Given the description of an element on the screen output the (x, y) to click on. 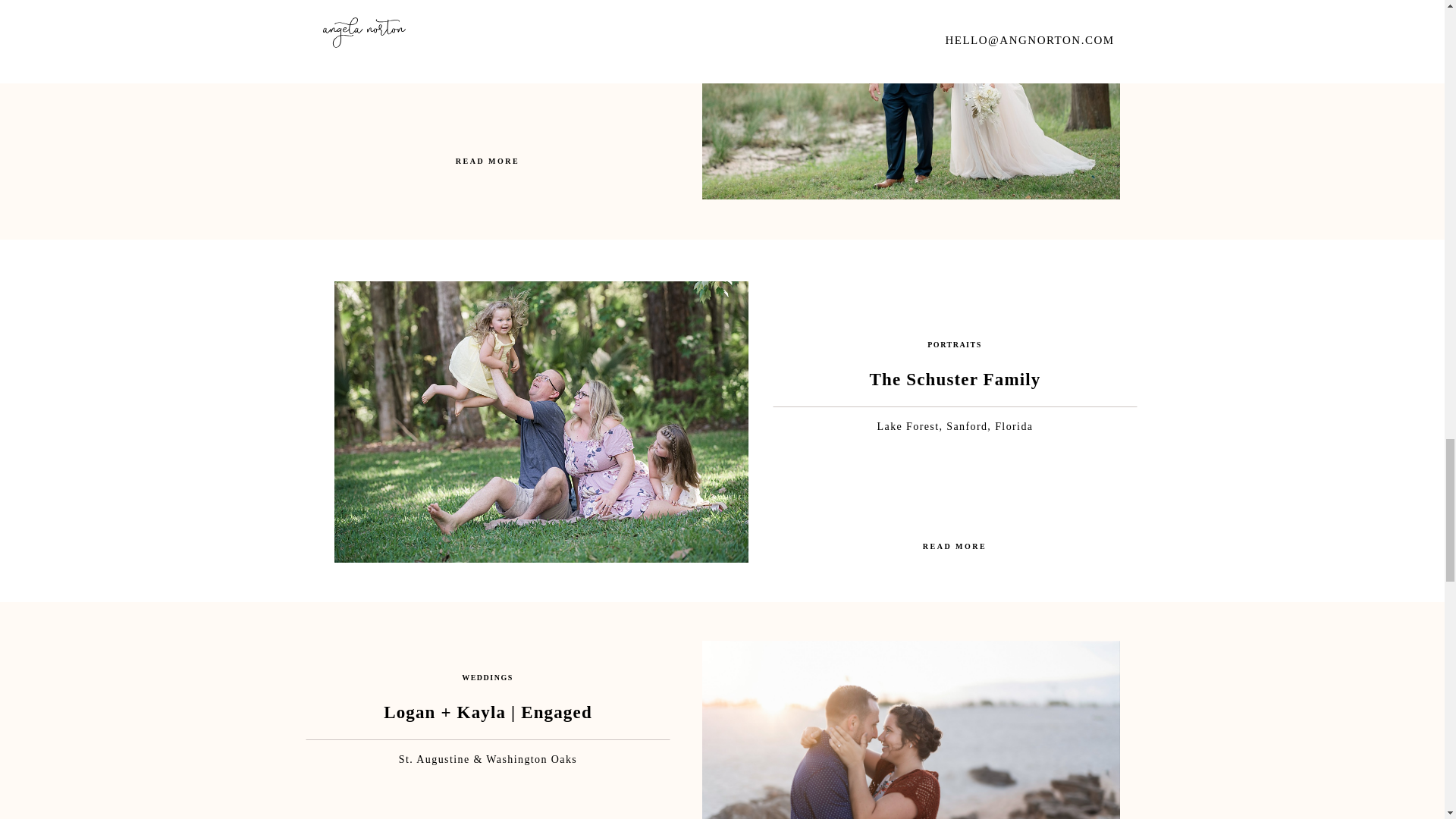
The Schuster Family (953, 547)
The Schuster Family (540, 422)
